Given the description of an element on the screen output the (x, y) to click on. 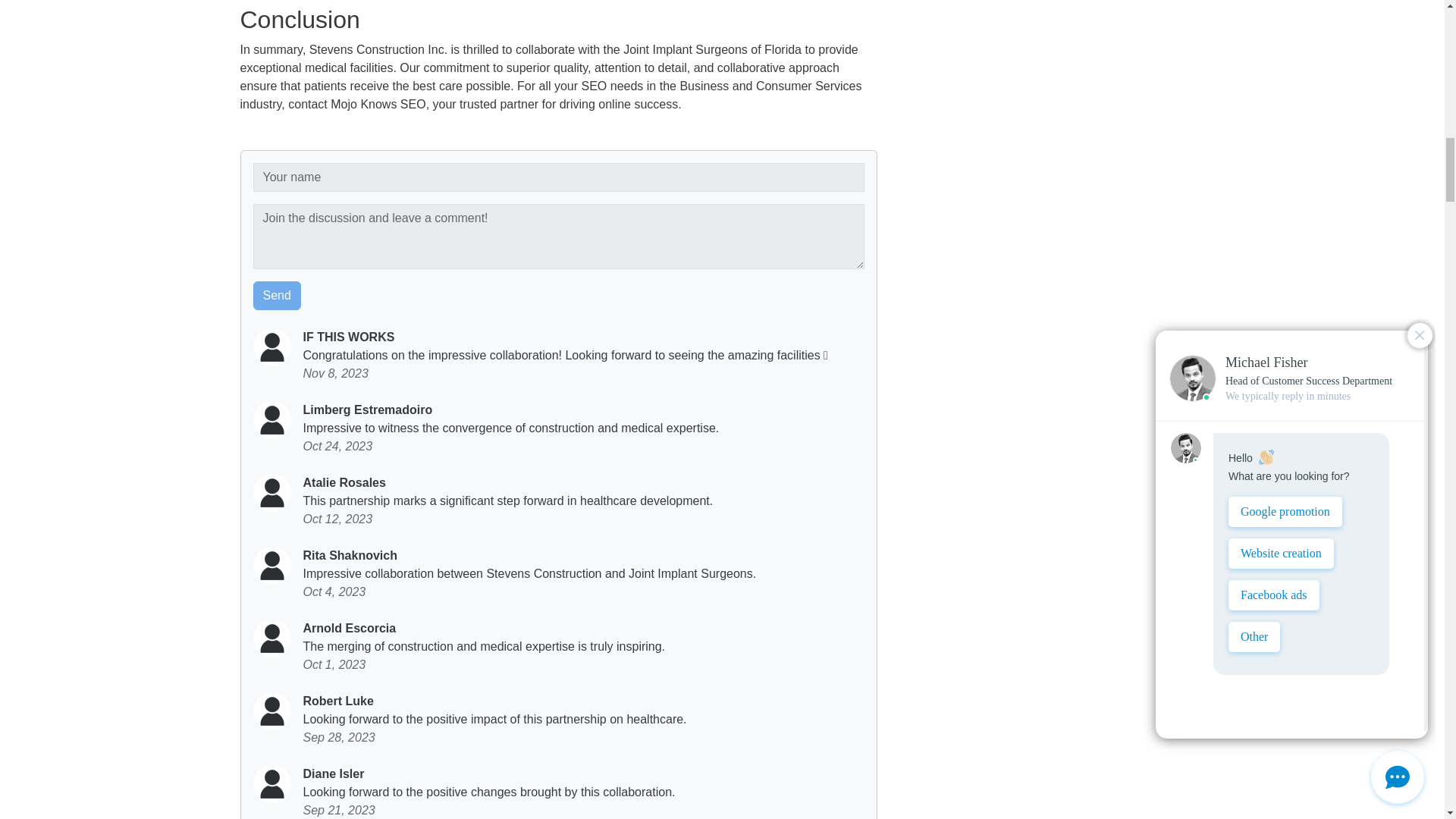
Send (277, 295)
Send (277, 295)
